Given the description of an element on the screen output the (x, y) to click on. 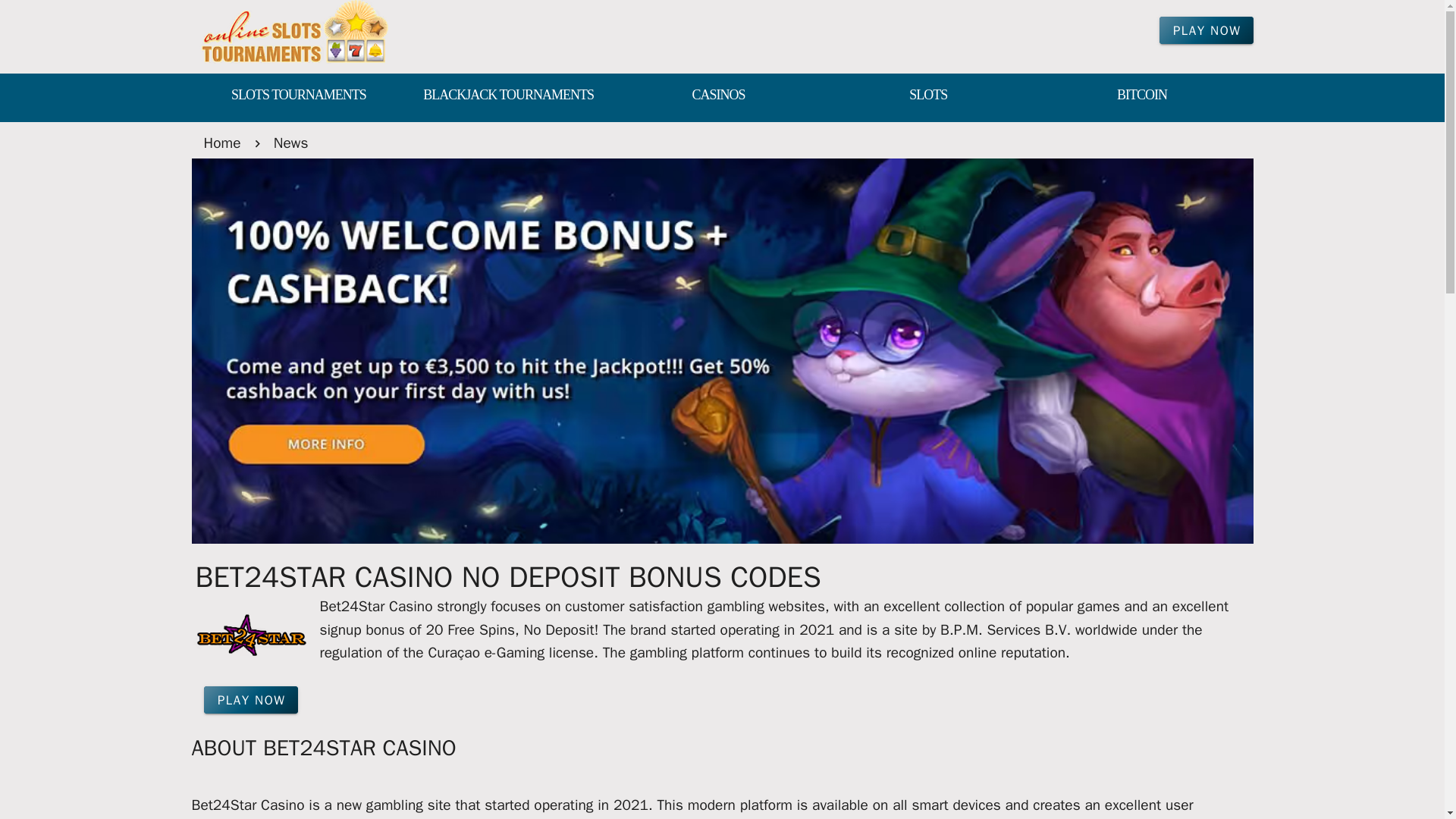
CASINOS (718, 95)
PLAY NOW (250, 699)
BITCOIN (1141, 95)
SLOTS (928, 95)
SLOTS TOURNAMENTS (297, 95)
PLAY NOW (1205, 30)
Home (221, 143)
BLACKJACK TOURNAMENTS (508, 95)
News (290, 143)
